Given the description of an element on the screen output the (x, y) to click on. 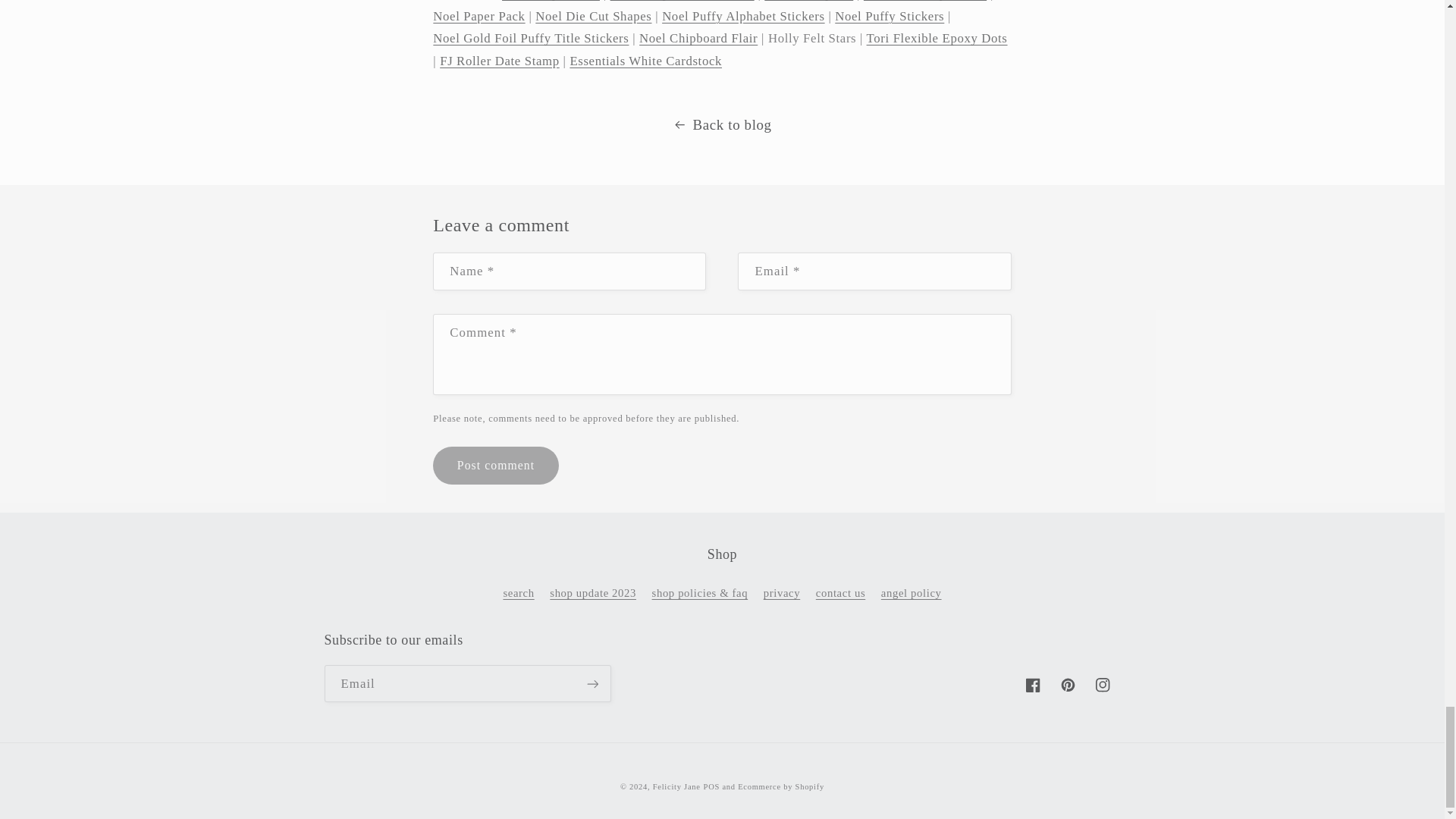
Noel Puffy Alphabet Stickers (743, 16)
Tori Flexible Epoxy Dots (936, 38)
Noel Die Cut Shapes (592, 16)
Noel Puffy Alphabet Stickers (743, 16)
Post comment (494, 465)
Noel Chipboard Flair (698, 38)
FJ Roller Date Stamp (499, 60)
Tori Flexible Epoxy Dots (936, 38)
Noel Puffy Stickers (888, 16)
Noel Gold Foil Puffy Title Stickers (530, 38)
Noel Puffy Stickers (888, 16)
